Given the description of an element on the screen output the (x, y) to click on. 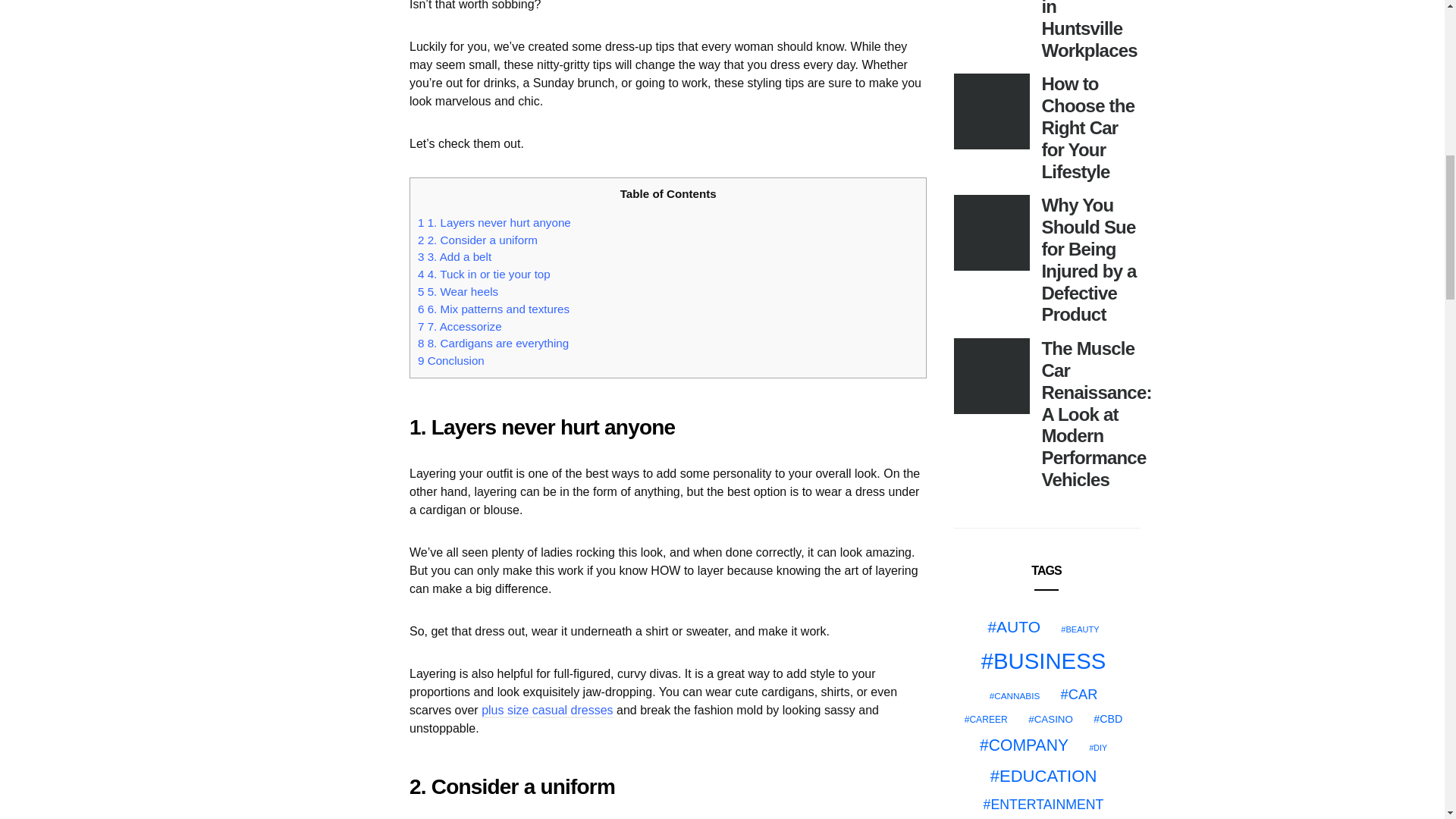
3 3. Add a belt (454, 256)
4 4. Tuck in or tie your top (483, 273)
plus size casual dresses (546, 710)
2 2. Consider a uniform (477, 239)
8 8. Cardigans are everything (493, 342)
5 5. Wear heels (457, 291)
7 7. Accessorize (459, 326)
6 6. Mix patterns and textures (493, 308)
9 Conclusion (450, 359)
1 1. Layers never hurt anyone (493, 222)
